Given the description of an element on the screen output the (x, y) to click on. 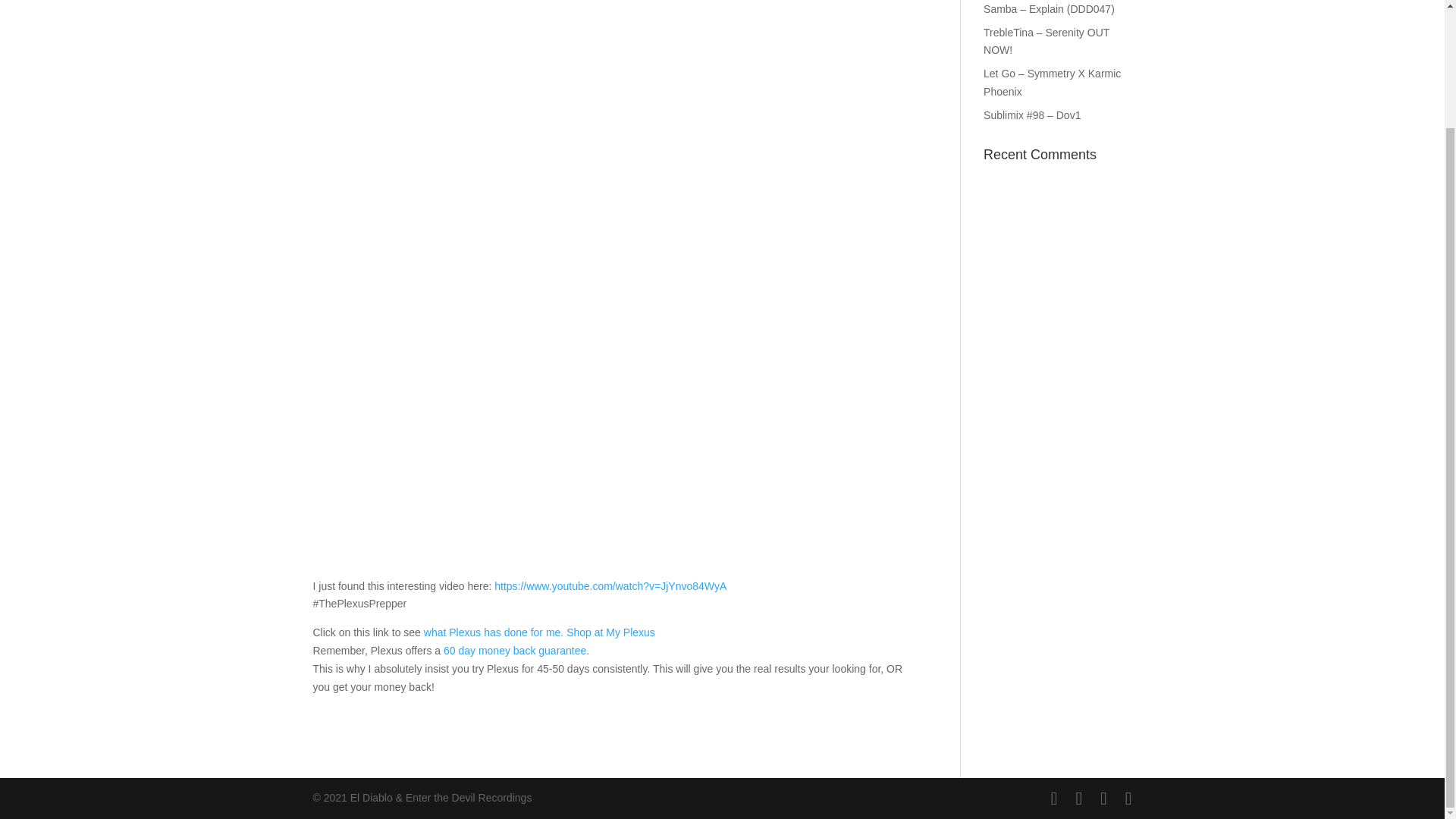
what Plexus has done for me. (493, 632)
60 day money back guarantee (515, 650)
Shop at My Plexus (610, 632)
